Given the description of an element on the screen output the (x, y) to click on. 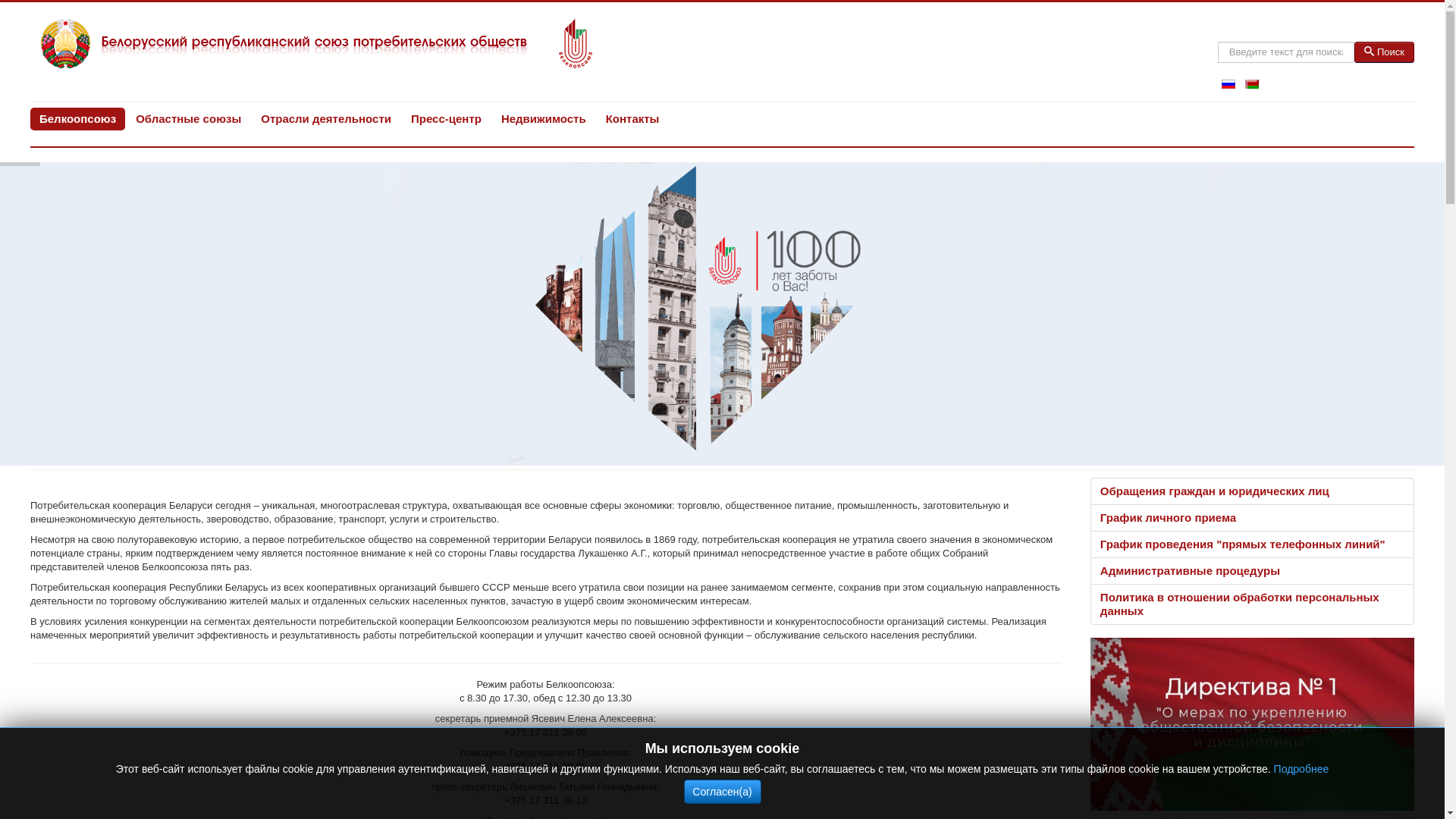
Belarusian (be-BY) Element type: hover (1251, 83)
Russian (RU) Element type: hover (1228, 83)
